Given the description of an element on the screen output the (x, y) to click on. 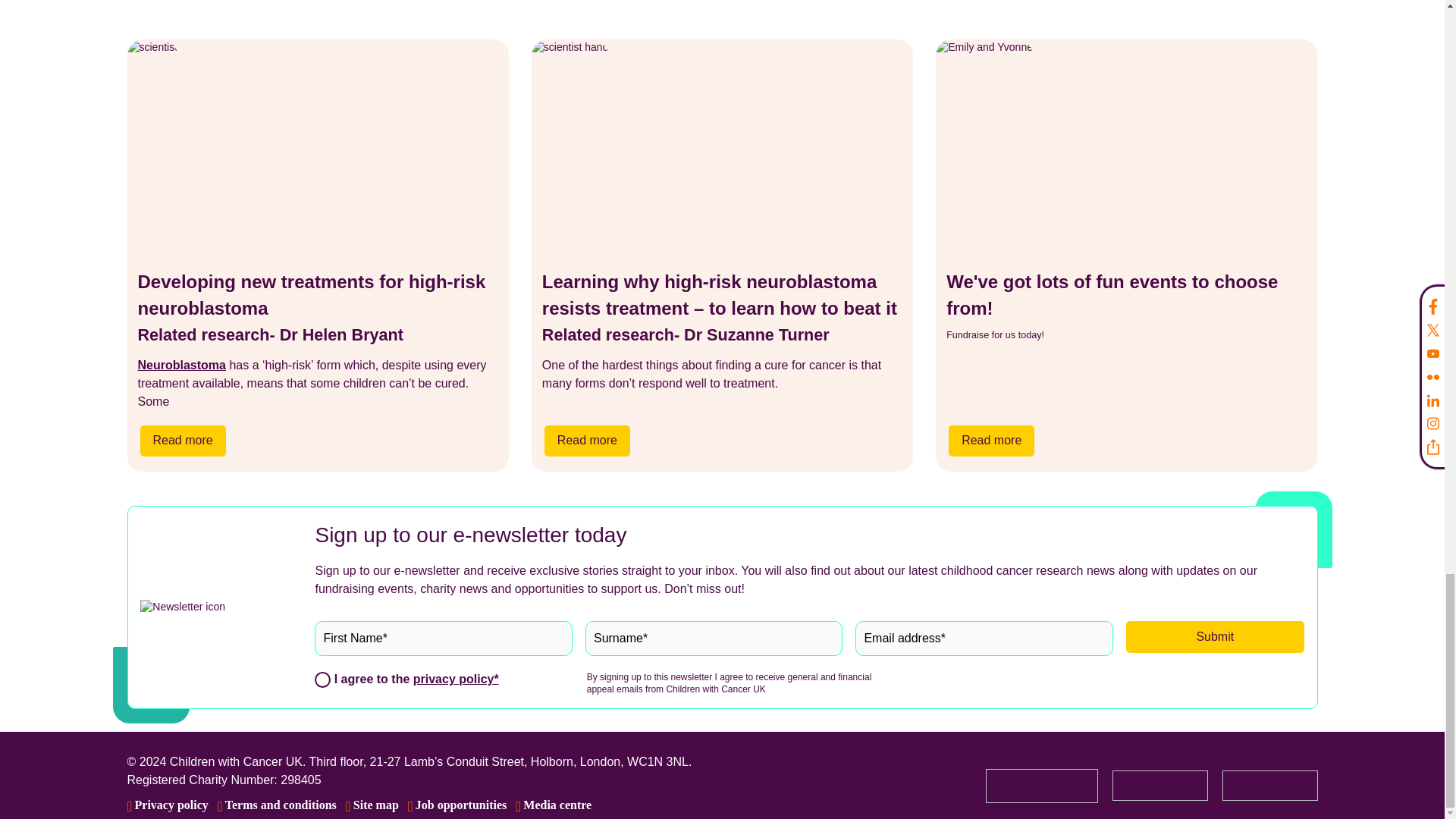
on (322, 679)
Submit (1214, 636)
